Given the description of an element on the screen output the (x, y) to click on. 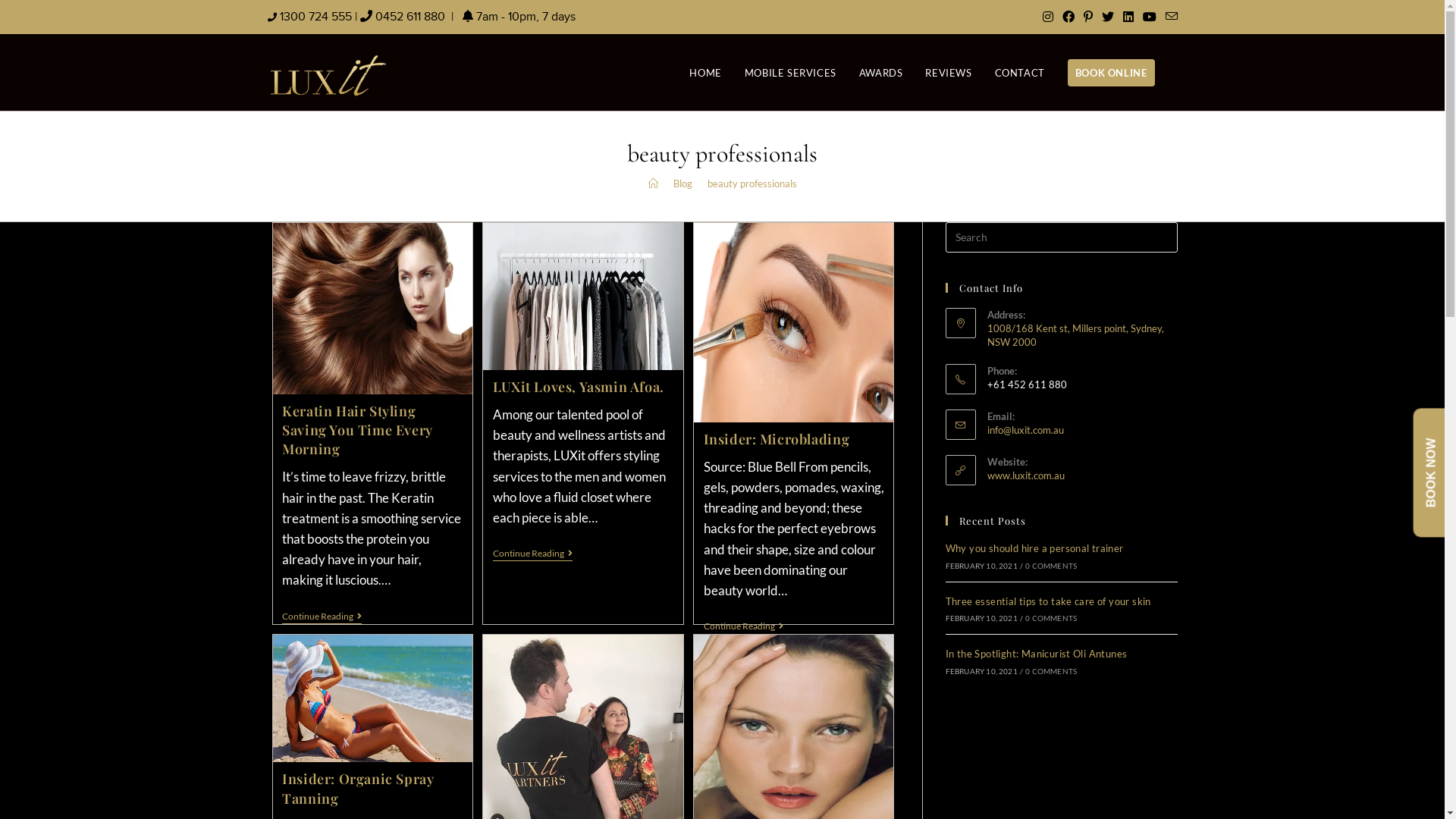
CONTACT Element type: text (1019, 72)
www.luxit.com.au Element type: text (1025, 475)
AWARDS Element type: text (880, 72)
0 COMMENTS Element type: text (1050, 617)
0452 611 880 Element type: text (409, 16)
REVIEWS Element type: text (947, 72)
Continue Reading
LUXit Loves, Yasmin Afoa. Element type: text (532, 554)
0 COMMENTS Element type: text (1050, 670)
Continue Reading
Insider: Microblading Element type: text (743, 627)
0 COMMENTS Element type: text (1050, 565)
LUXit Loves, Yasmin Afoa. Element type: text (578, 386)
Insider: Microblading Element type: text (776, 438)
Blog Element type: text (682, 183)
Three essential tips to take care of your skin Element type: text (1047, 601)
1300 724 555 Element type: text (315, 16)
In the Spotlight: Manicurist Oli Antunes Element type: text (1035, 653)
info@luxit.com.au Element type: text (1025, 429)
Insider: Organic Spray Tanning Element type: text (357, 787)
HOME Element type: text (704, 72)
beauty professionals Element type: text (751, 183)
BOOK ONLINE Element type: text (1111, 72)
Keratin Hair Styling Saving You Time Every Morning Element type: text (357, 429)
MOBILE SERVICES Element type: text (790, 72)
Why you should hire a personal trainer Element type: text (1033, 548)
1008/168 Kent st, Millers point, Sydney, NSW 2000 Element type: text (1082, 334)
